Given the description of an element on the screen output the (x, y) to click on. 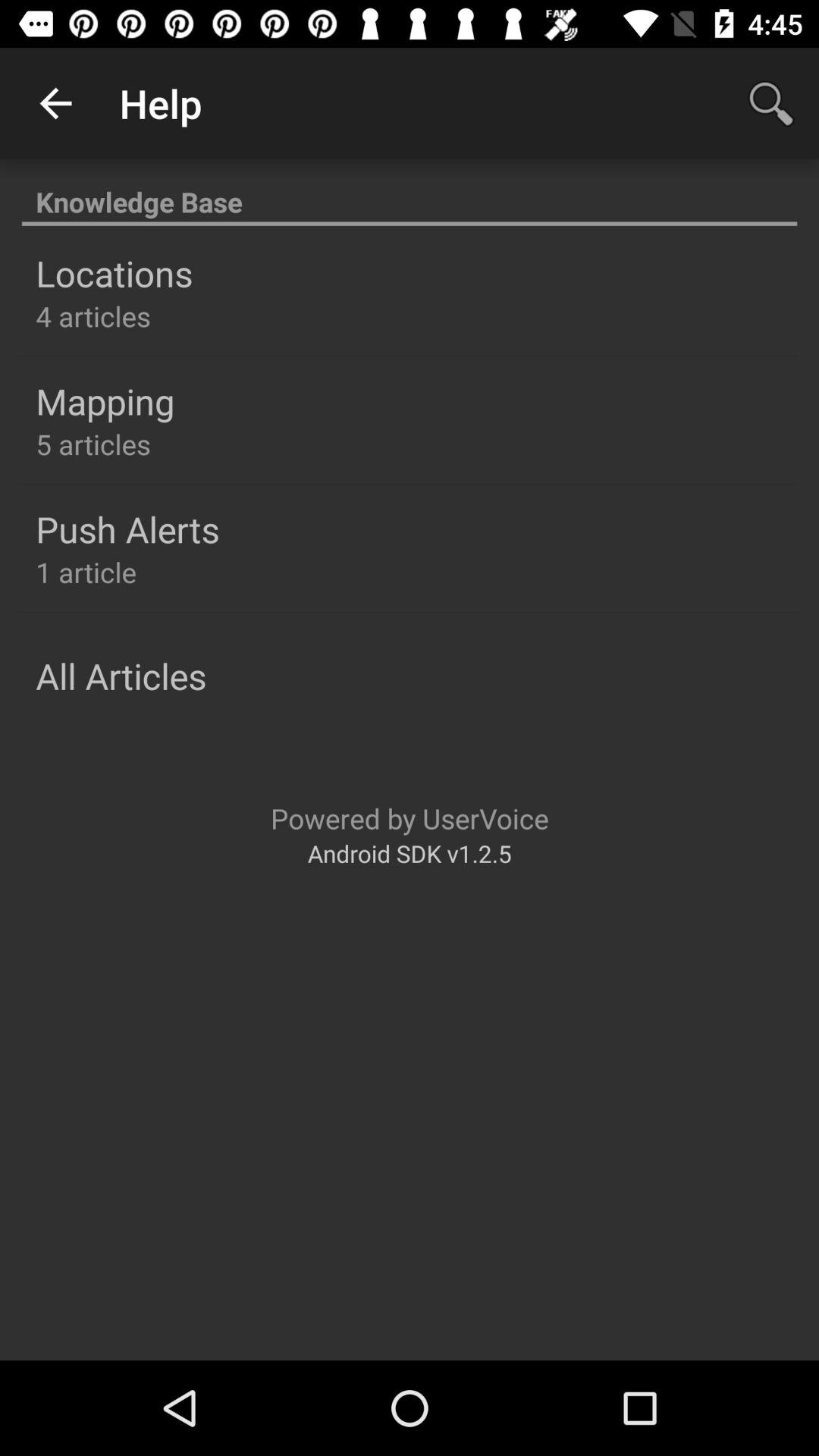
jump to the locations icon (113, 273)
